Given the description of an element on the screen output the (x, y) to click on. 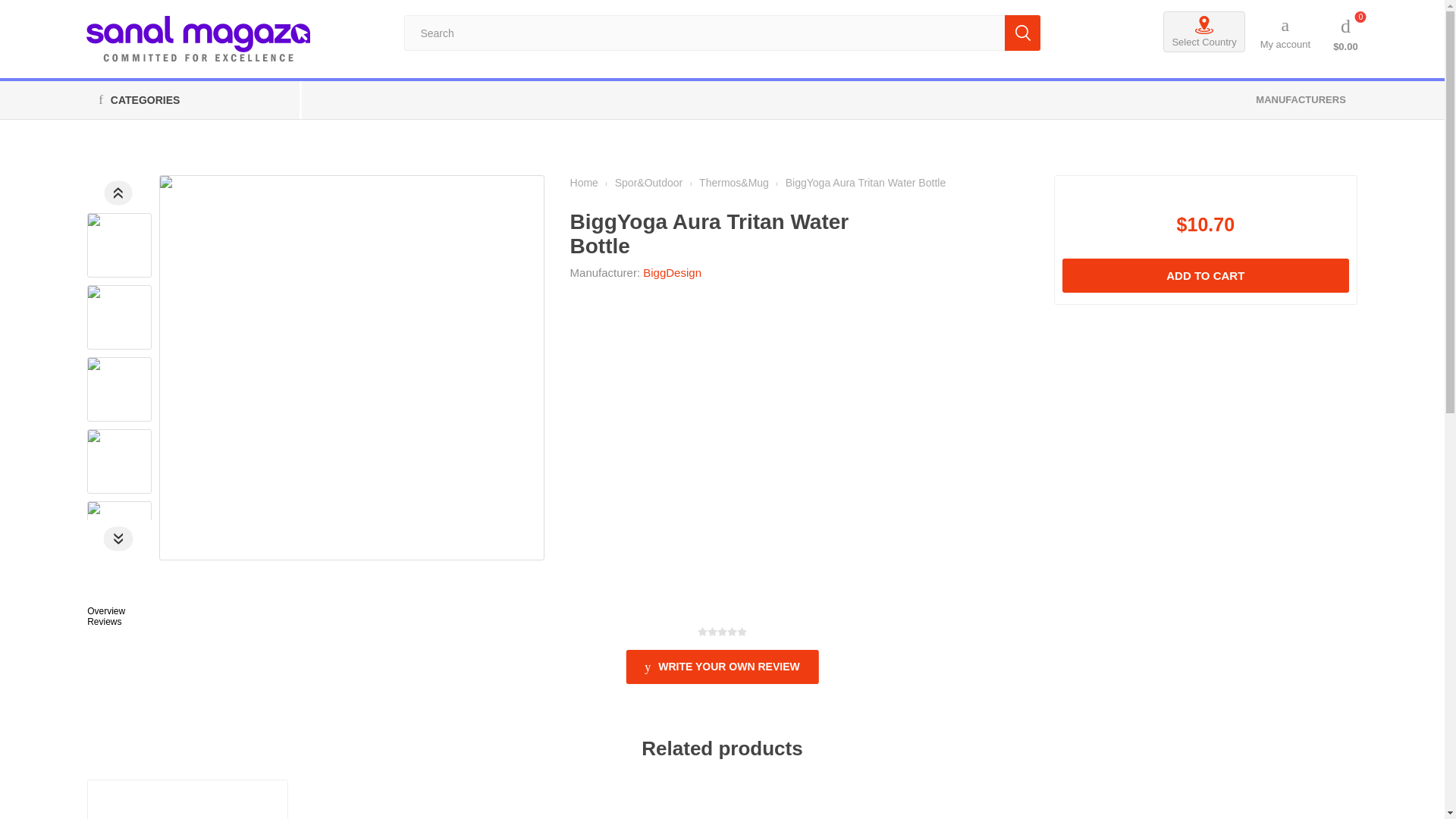
Search (1022, 32)
Search (1022, 32)
Select Country (1204, 31)
media.product.imagelinktitleformat (186, 799)
Sanal Magaza All Countries (198, 39)
Add to cart (1205, 275)
Search (1022, 32)
My account (1285, 32)
